Given the description of an element on the screen output the (x, y) to click on. 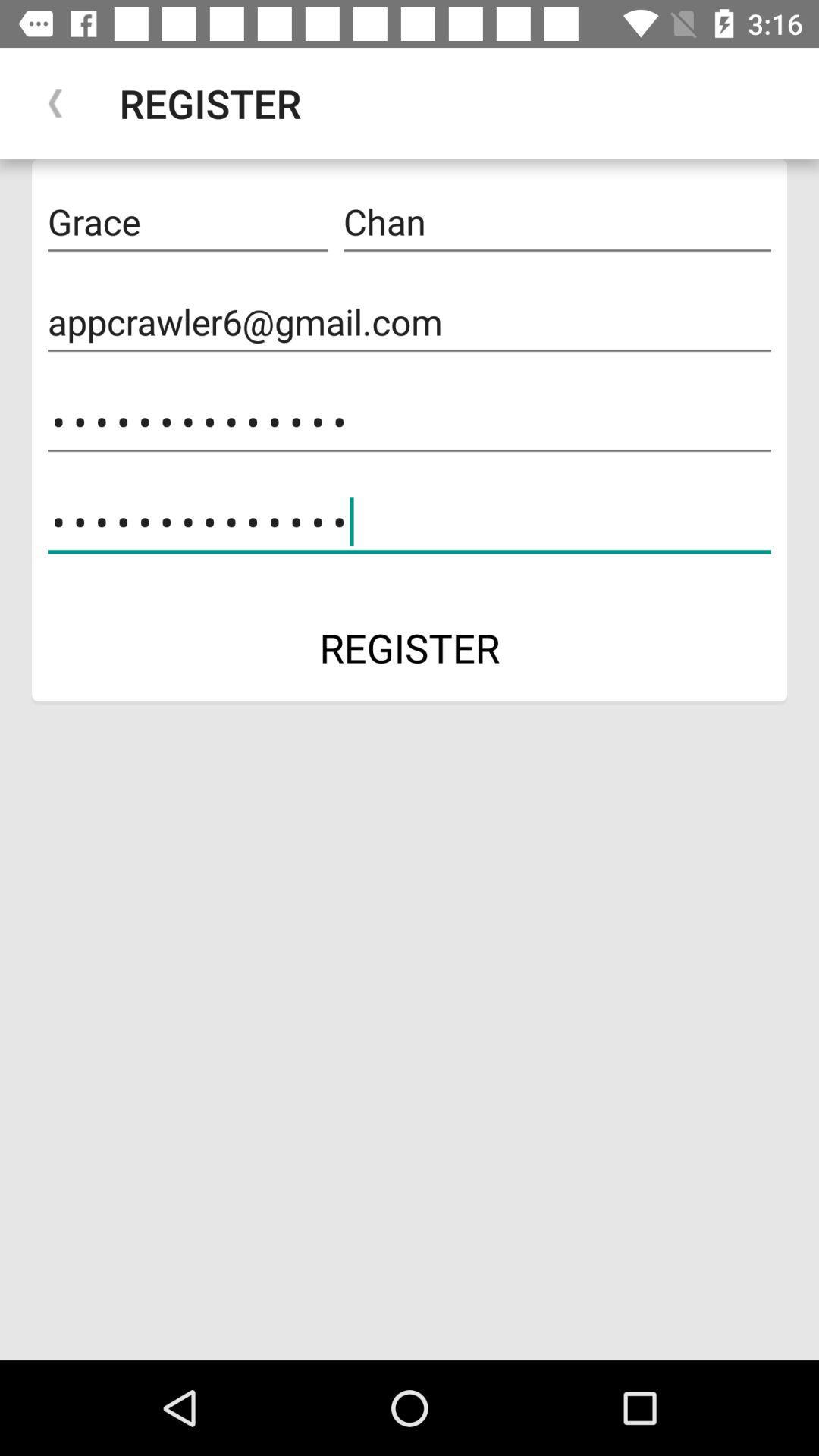
select icon above the appcrawler6@gmail.com (187, 222)
